Given the description of an element on the screen output the (x, y) to click on. 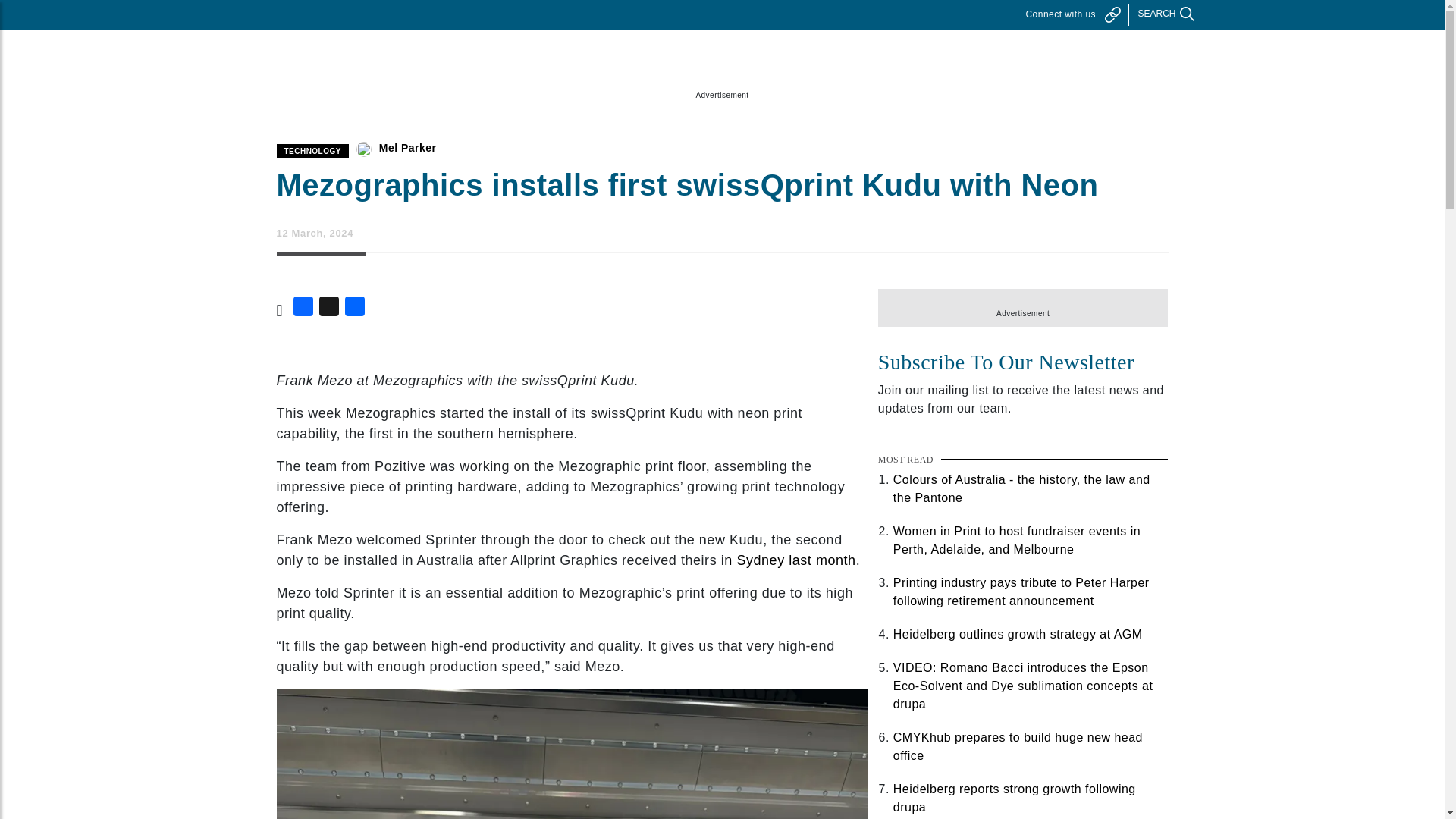
Connect with us   (1072, 14)
Facebook (302, 309)
Facebook (302, 309)
SEARCH (1158, 13)
X (328, 309)
Mel Parker (407, 147)
TECHNOLOGY (311, 151)
